Given the description of an element on the screen output the (x, y) to click on. 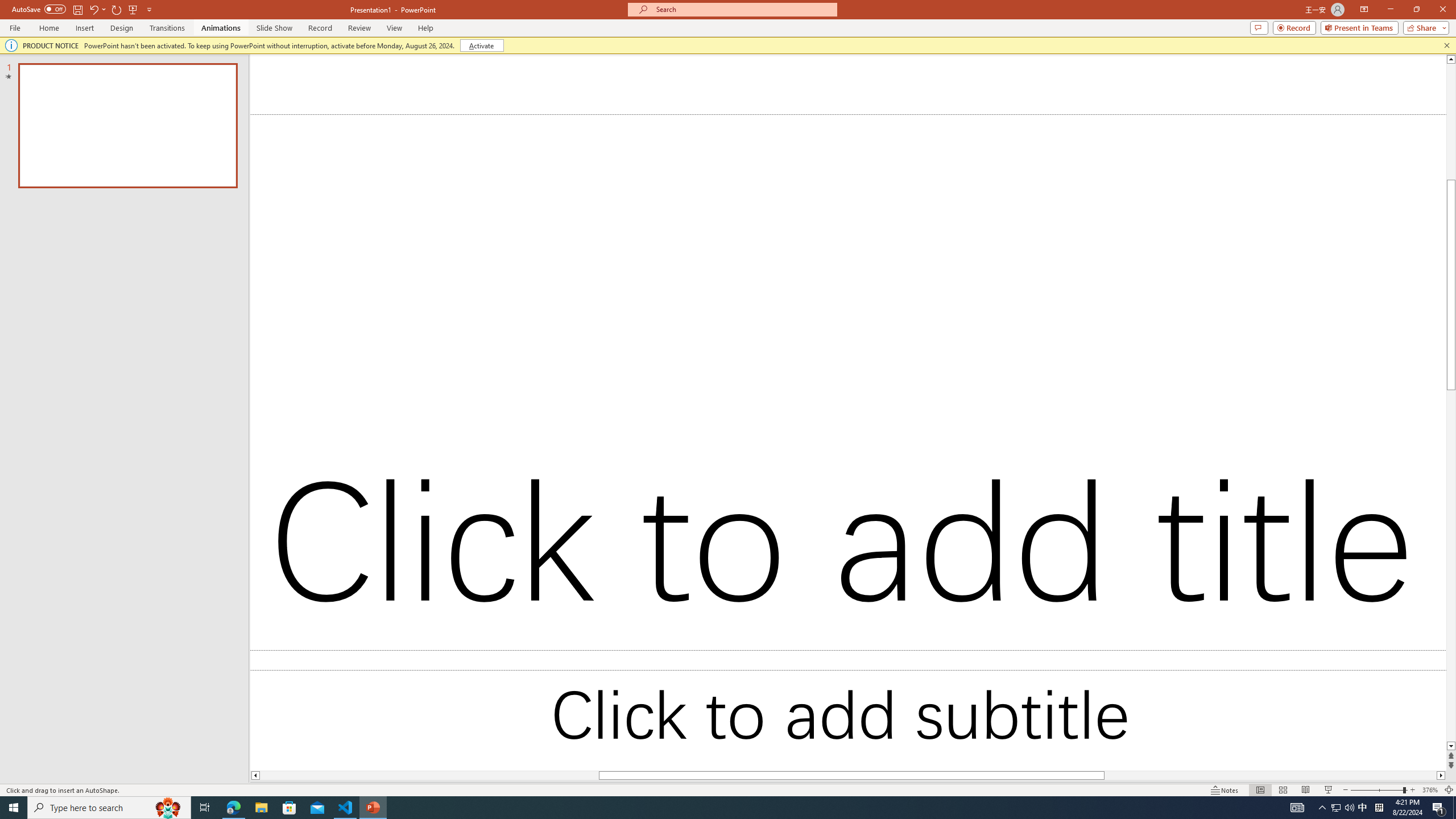
Show/Hide Editing Marks (624, 77)
Cut (63, 72)
Book Title (1369, 489)
Normal (1369, 243)
Phonetic Guide... (350, 77)
Character Border (374, 77)
acbfdd8b-e11b-4d36-88ff-6049b138f862 (1369, 211)
AutomationID: QuickStylesGallery (841, 91)
Italic (120, 102)
Strong (1369, 407)
Undo Typing (165, 18)
